Given the description of an element on the screen output the (x, y) to click on. 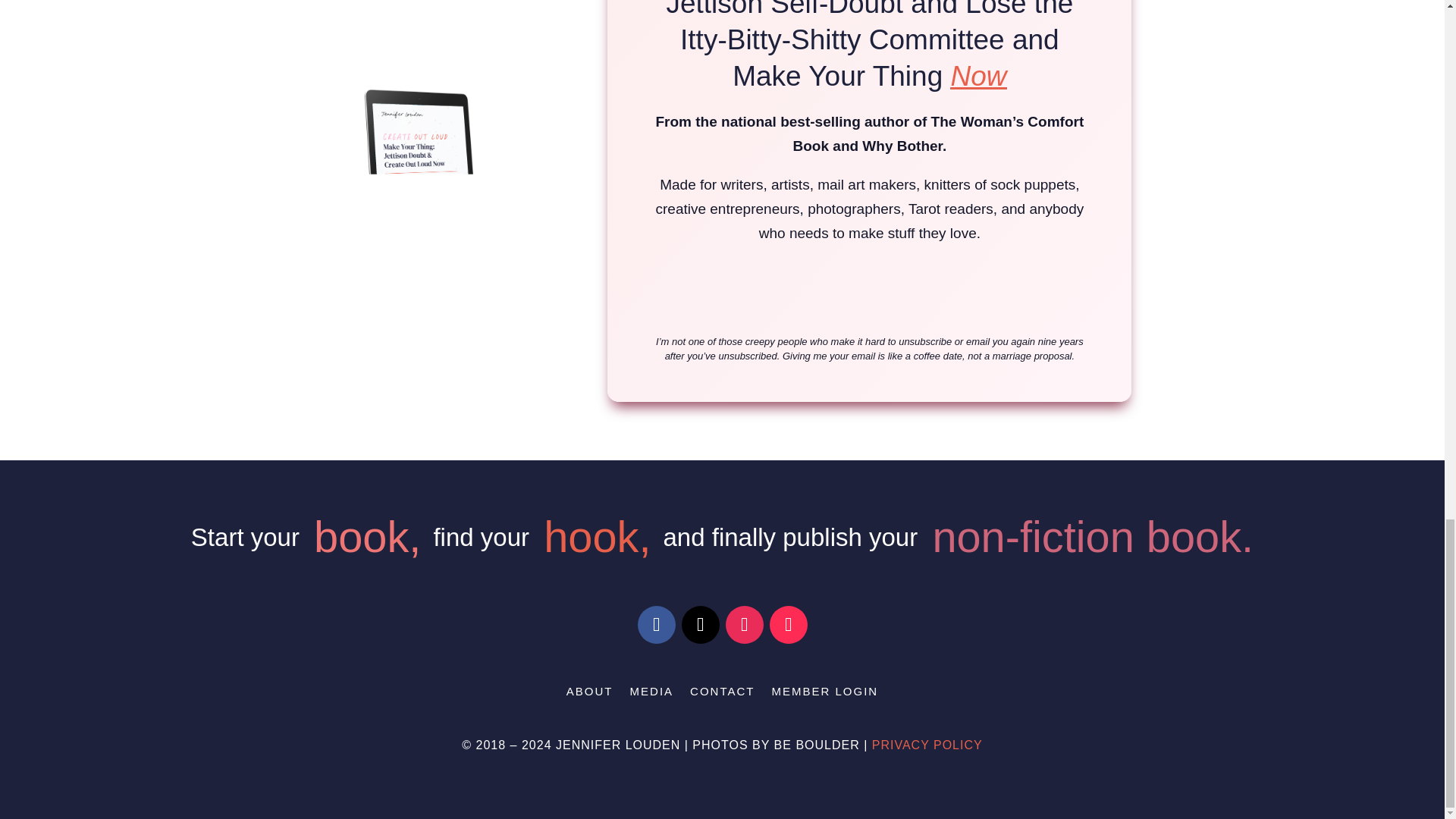
Follow on Facebook (656, 624)
CONTACT (722, 694)
Follow on Instagram (743, 624)
1651736701 (427, 174)
ABOUT (589, 694)
PRIVACY POLICY (927, 744)
Follow on X (700, 624)
Follow on TikTok (787, 624)
MEDIA (652, 694)
MEMBER LOGIN (824, 694)
